Given the description of an element on the screen output the (x, y) to click on. 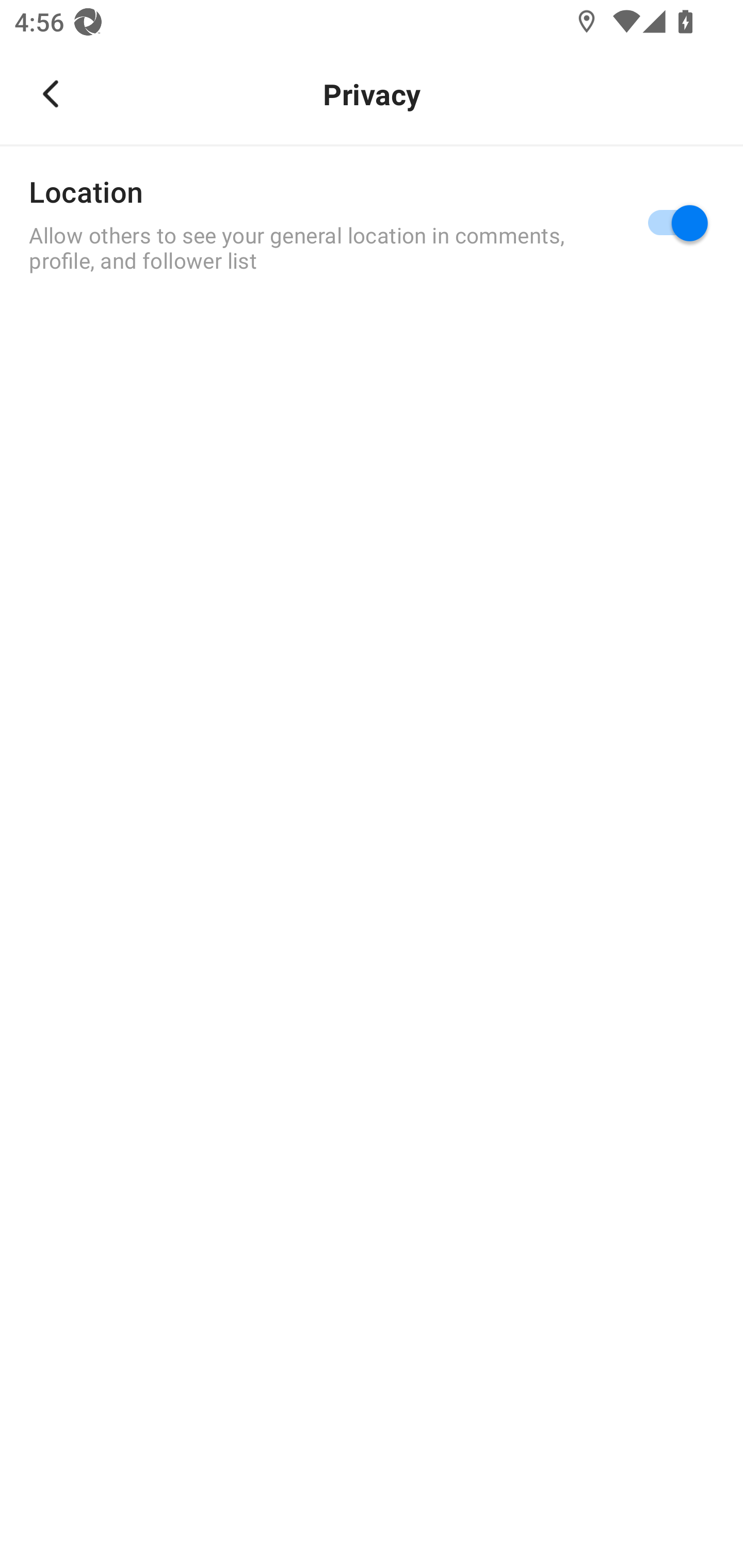
Navigate up (50, 93)
